Given the description of an element on the screen output the (x, y) to click on. 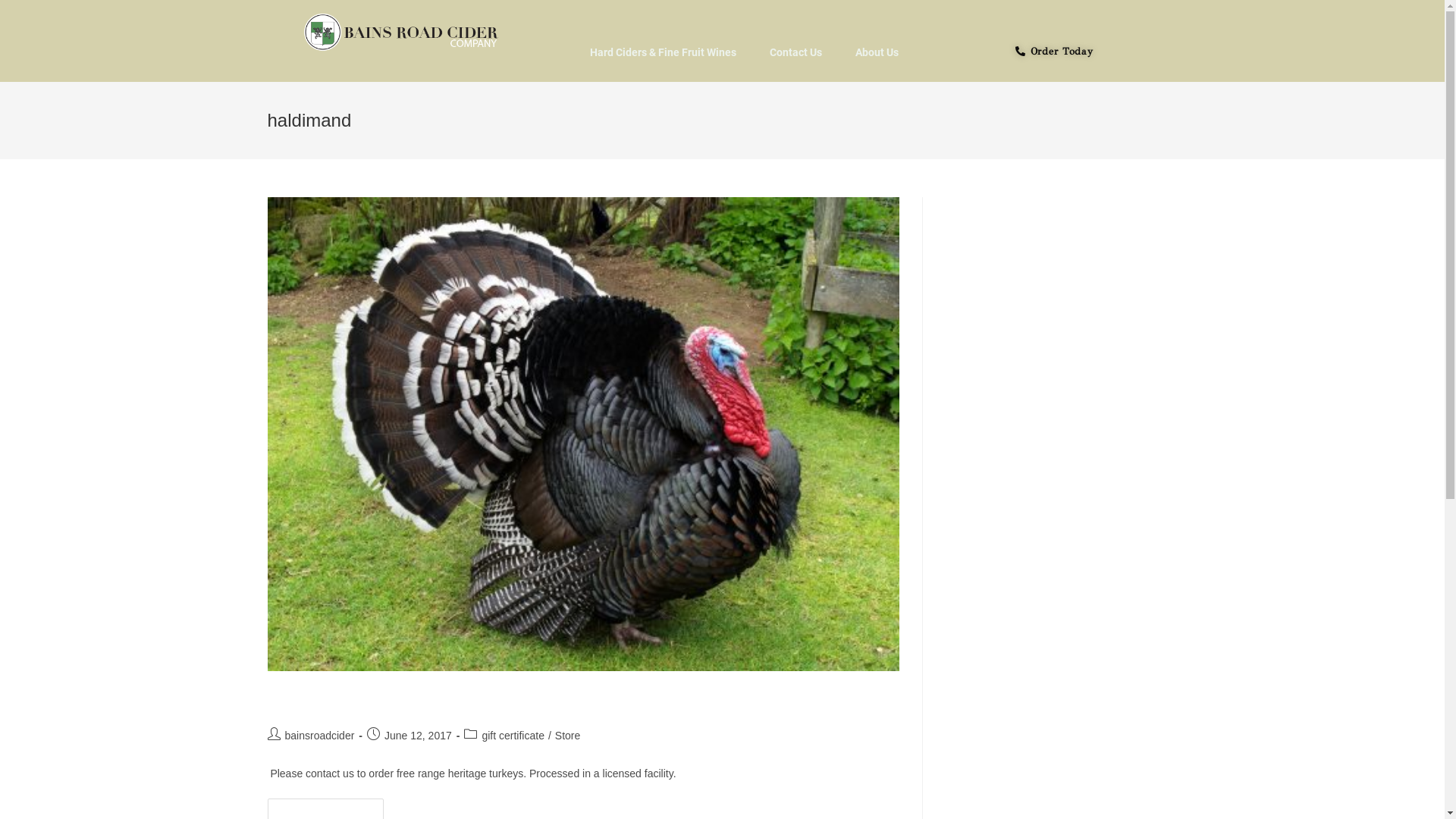
Contact Us Element type: text (795, 51)
gift certificate Element type: text (512, 735)
Now Taking Orders for Free Range Thanksgiving Turkeys Element type: text (525, 698)
Hard Ciders & Fine Fruit Wines Element type: text (662, 51)
Store Element type: text (567, 735)
bainsroadcider Element type: text (319, 735)
About Us Element type: text (876, 51)
Order Today Element type: text (1053, 51)
